Given the description of an element on the screen output the (x, y) to click on. 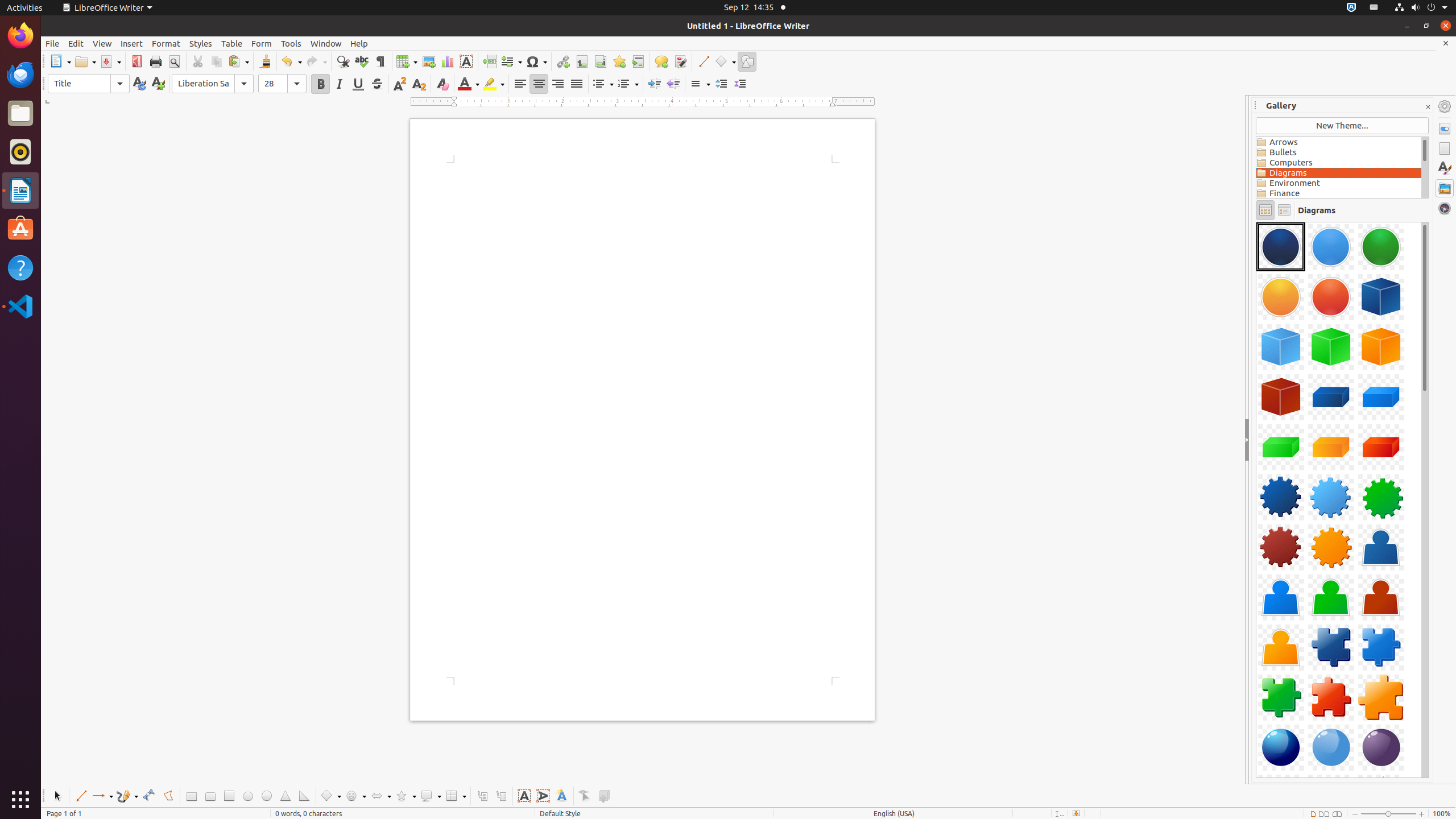
Component-PuzzlePiece04-Red Element type: list-item (1330, 696)
Select Element type: push-button (56, 795)
Text Box Element type: push-button (523, 795)
Right Triangle Element type: push-button (303, 795)
View Element type: menu (102, 43)
